Given the description of an element on the screen output the (x, y) to click on. 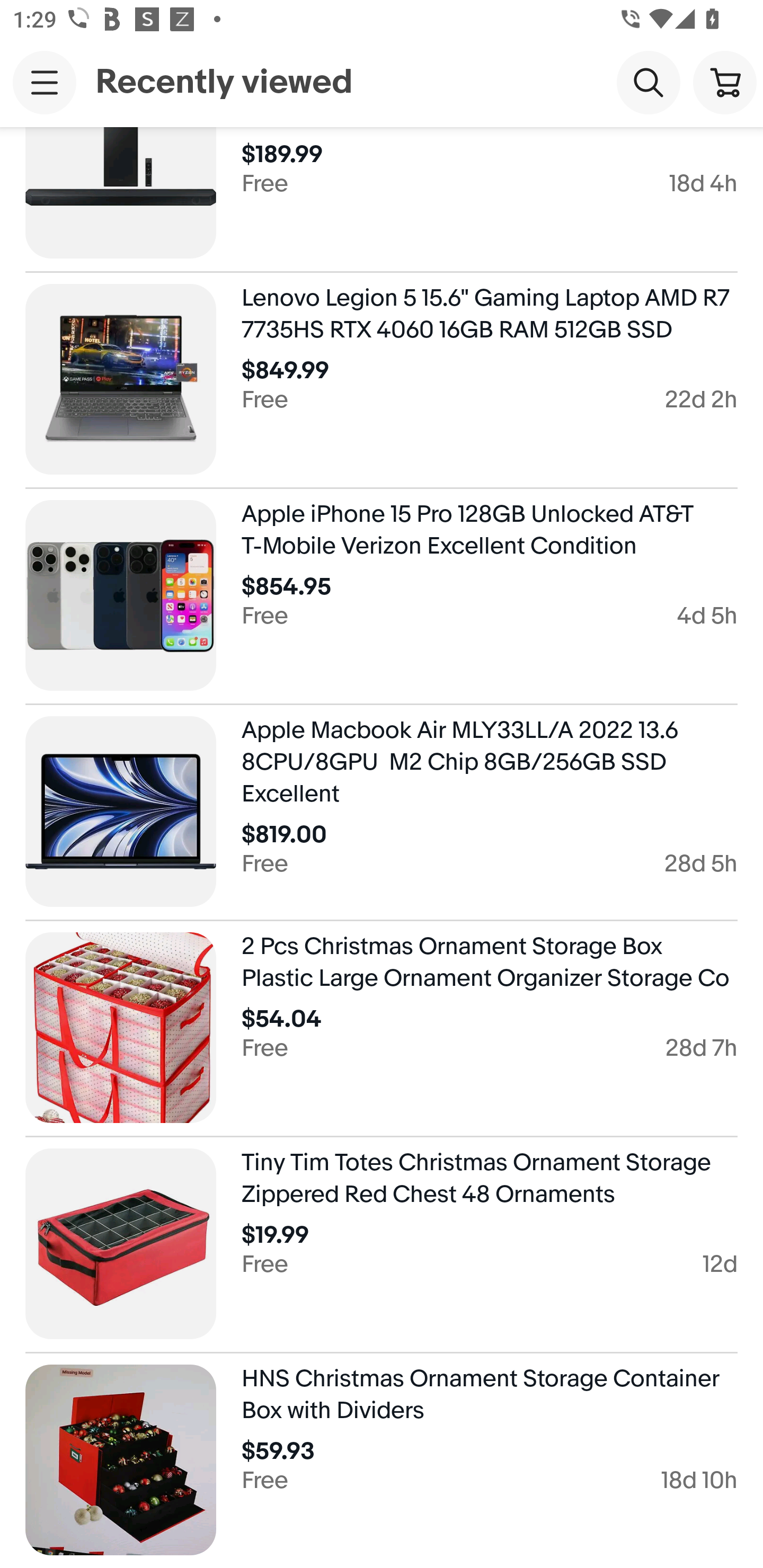
Main navigation, open (44, 82)
Search (648, 81)
Cart button shopping cart (724, 81)
